Given the description of an element on the screen output the (x, y) to click on. 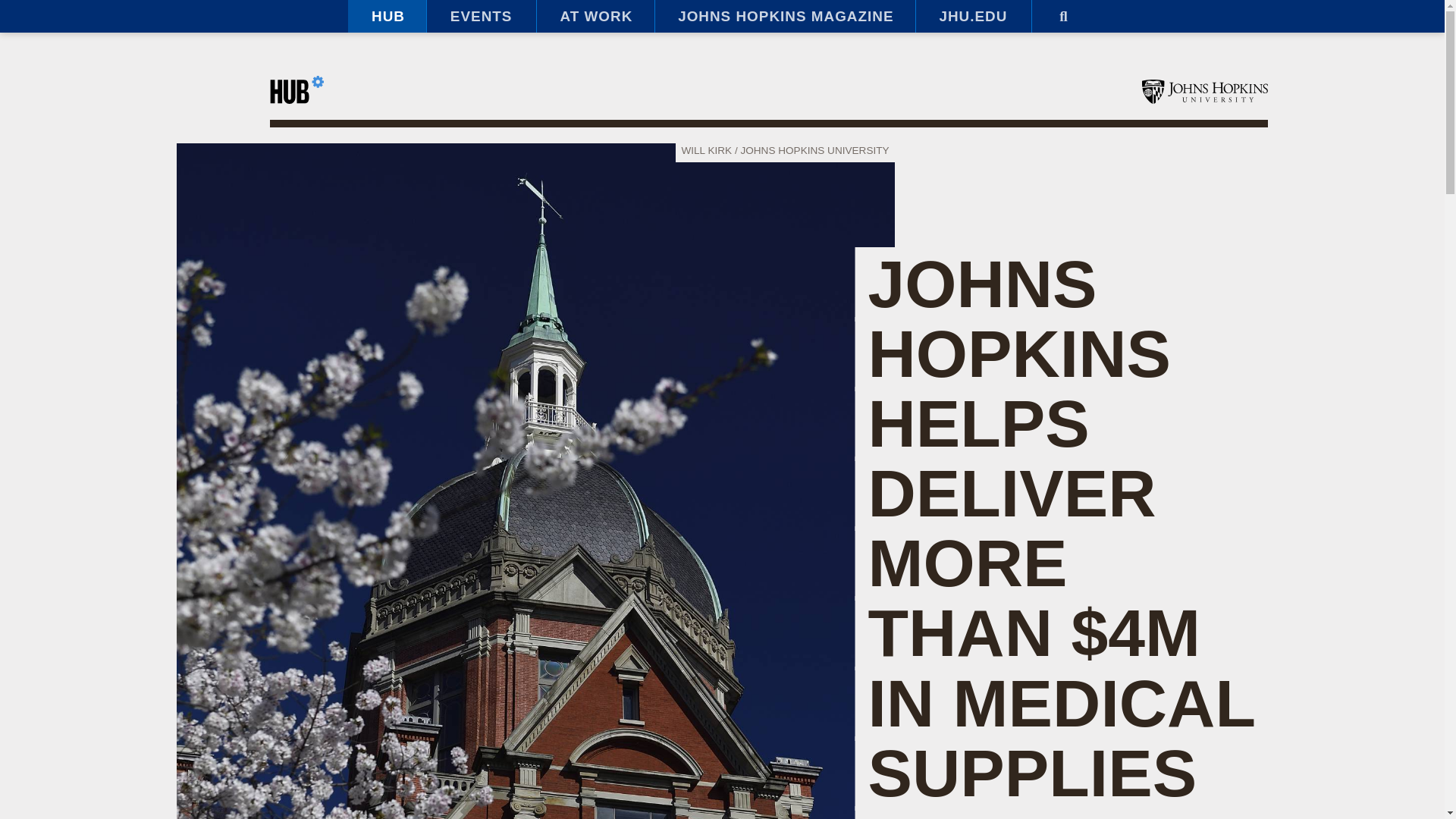
EVENTS (480, 16)
JOHNS HOPKINS MAGAZINE (784, 16)
AT WORK (594, 16)
JHU.EDU (972, 16)
HUB (386, 16)
Johns Hopkins University (1204, 91)
